Given the description of an element on the screen output the (x, y) to click on. 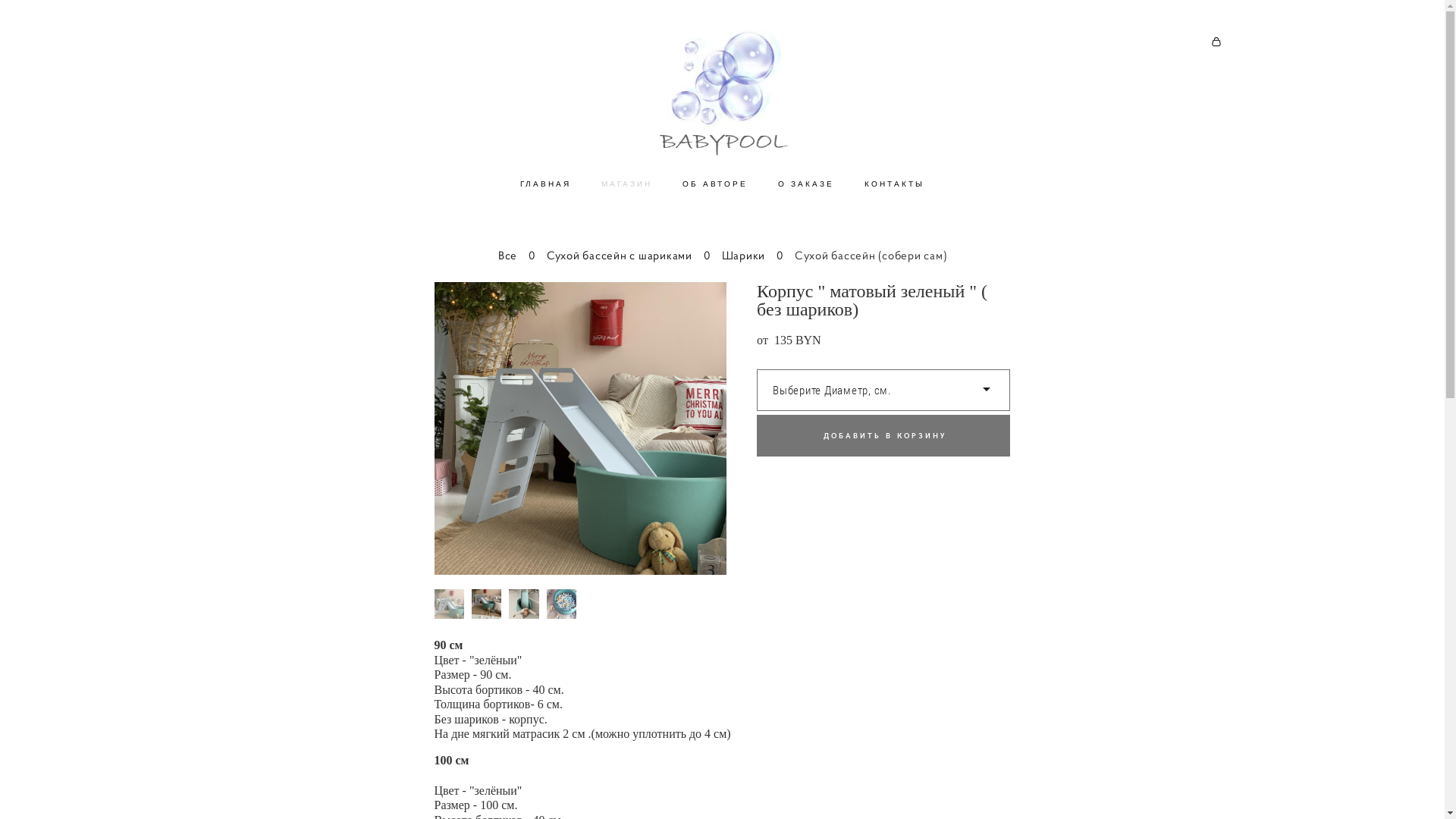
BABYPOOL.BY Element type: hover (721, 94)
